Given the description of an element on the screen output the (x, y) to click on. 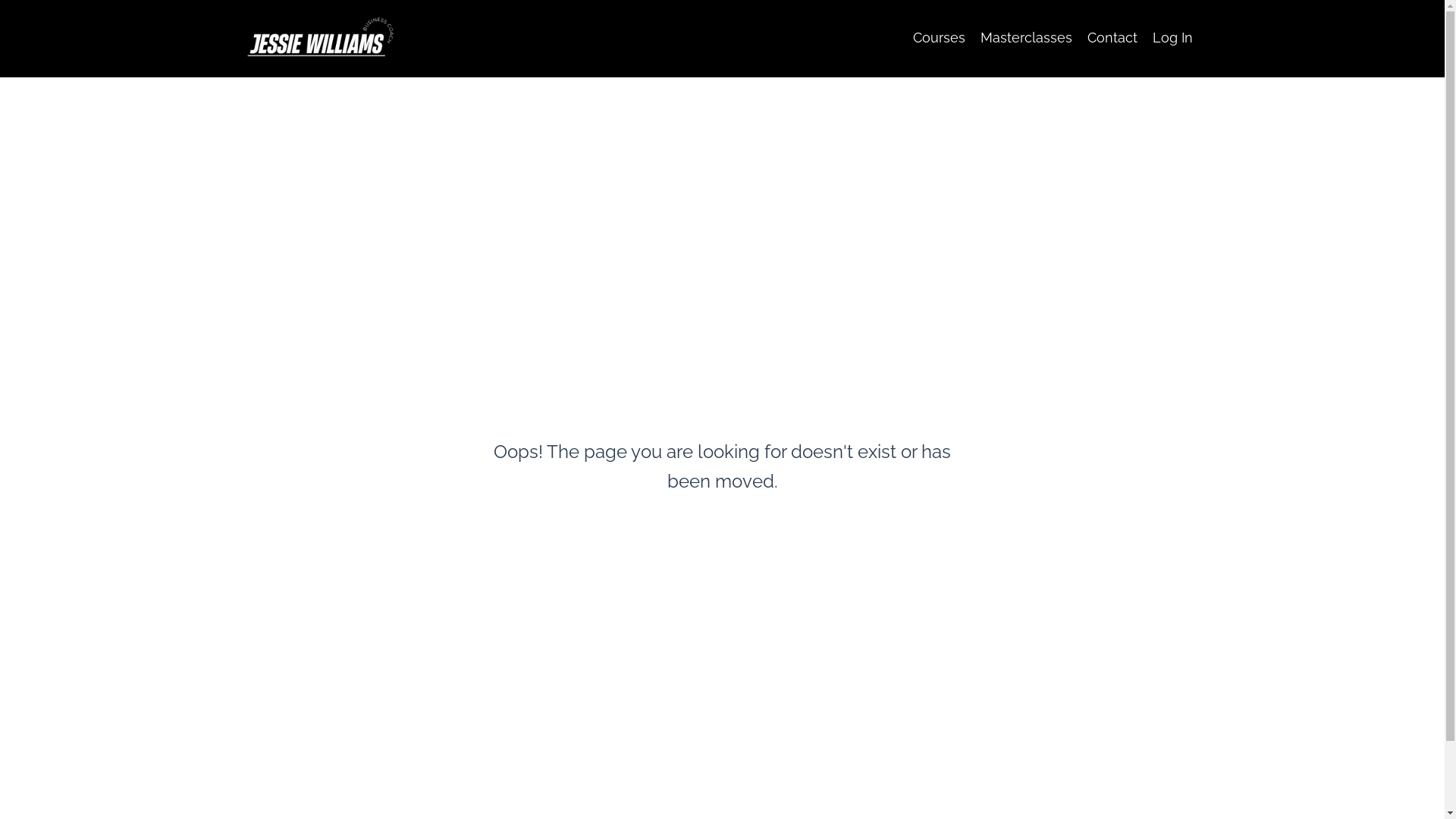
Courses Element type: text (939, 38)
Log In Element type: text (1172, 37)
Contact Element type: text (1112, 38)
Masterclasses Element type: text (1025, 38)
